Given the description of an element on the screen output the (x, y) to click on. 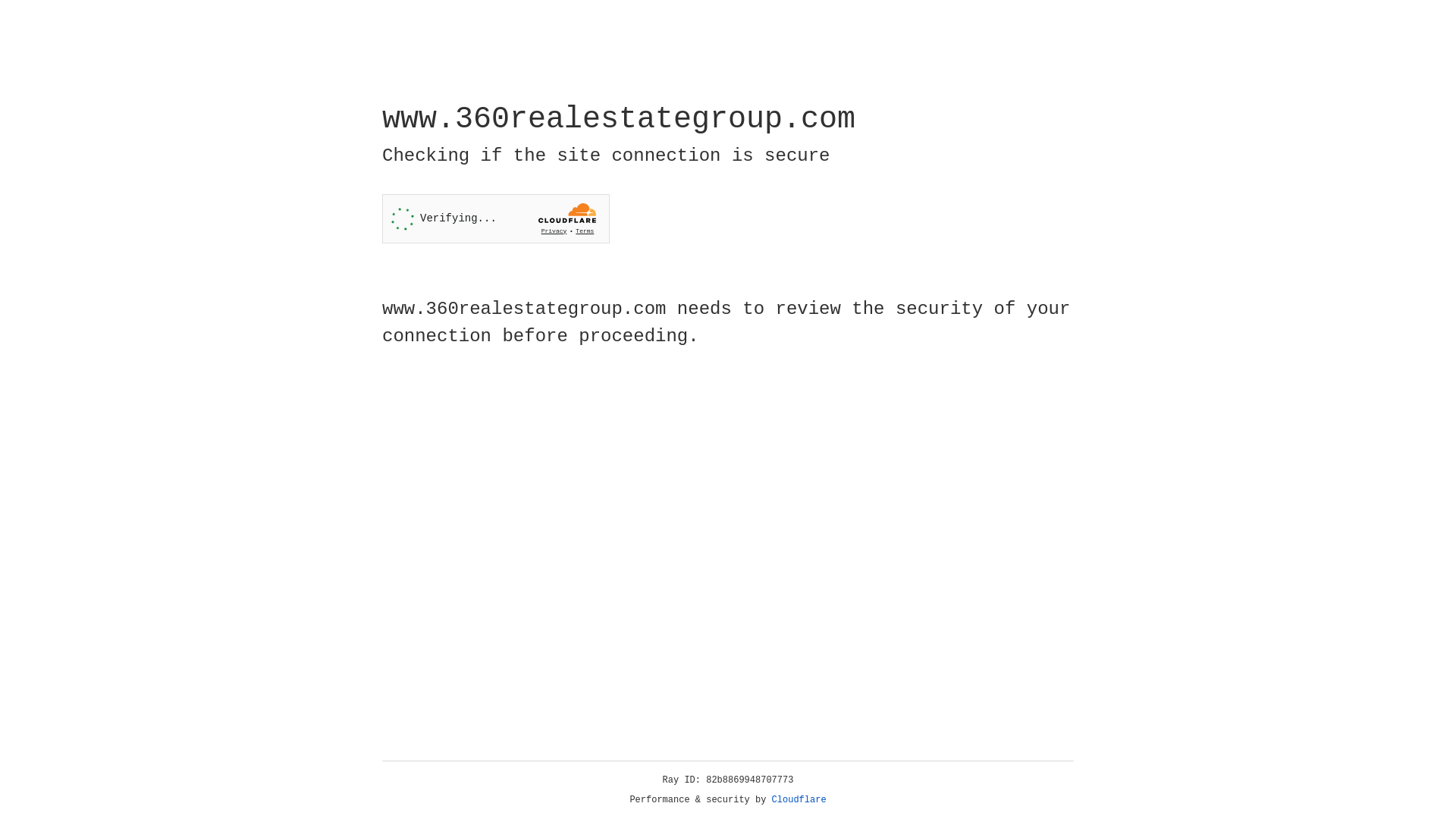
Cloudflare Element type: text (798, 799)
Widget containing a Cloudflare security challenge Element type: hover (495, 218)
